Given the description of an element on the screen output the (x, y) to click on. 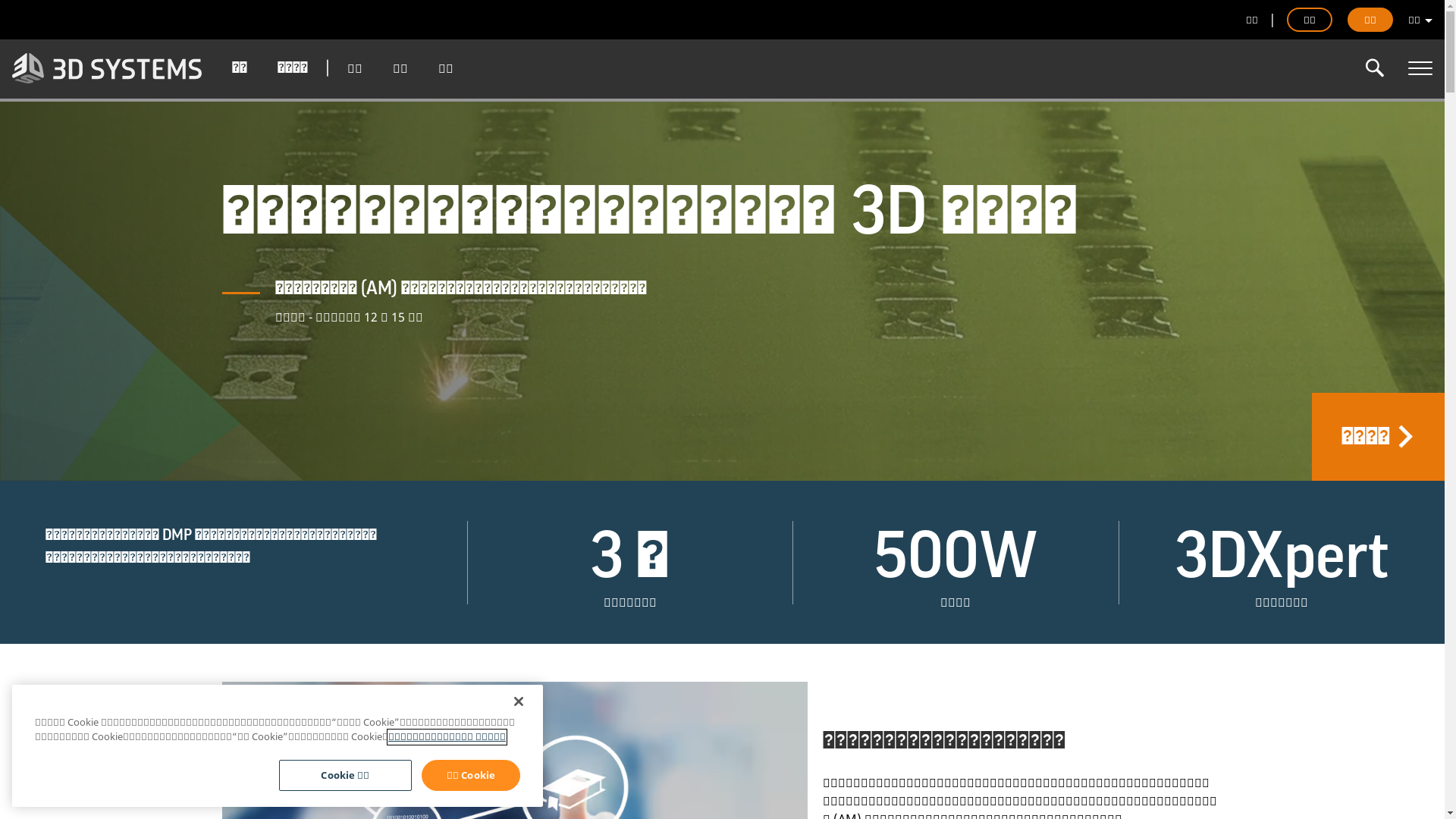
Enter the terms you wish to search for. Element type: hover (1374, 67)
Search Element type: text (1374, 67)
